Given the description of an element on the screen output the (x, y) to click on. 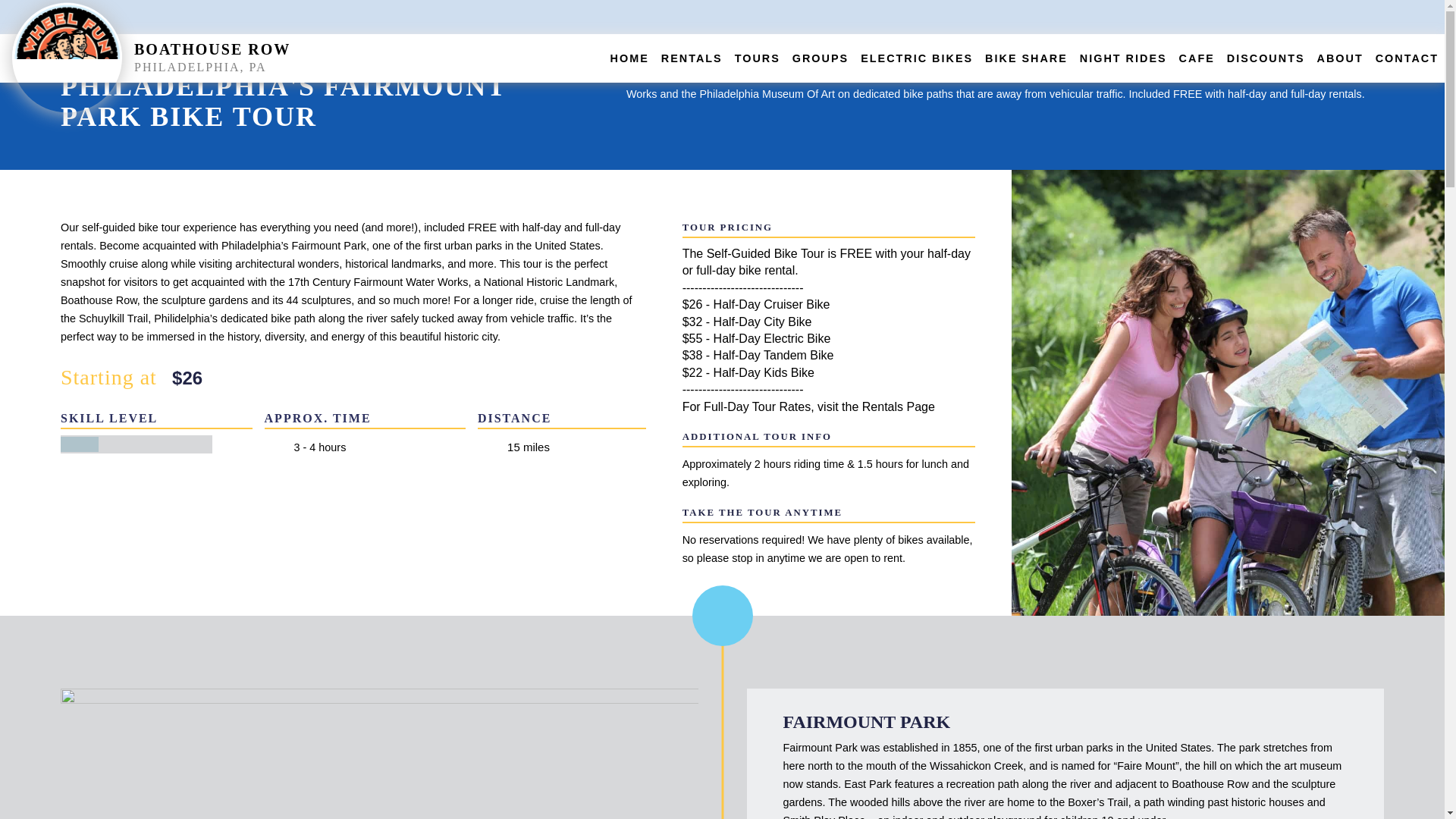
NIGHT RIDES (1123, 57)
TOURS (757, 57)
CAFE (1196, 57)
GROUPS (820, 57)
BIKE SHARE (1026, 57)
PHILADELPHIA, PA (362, 67)
ELECTRIC BIKES (916, 57)
RENTALS (691, 57)
HOME (629, 57)
DISCOUNTS (1265, 57)
ABOUT (1339, 57)
CONTACT (1406, 57)
Wheel Fun Rentals (66, 57)
BOATHOUSE ROW (211, 48)
